Given the description of an element on the screen output the (x, y) to click on. 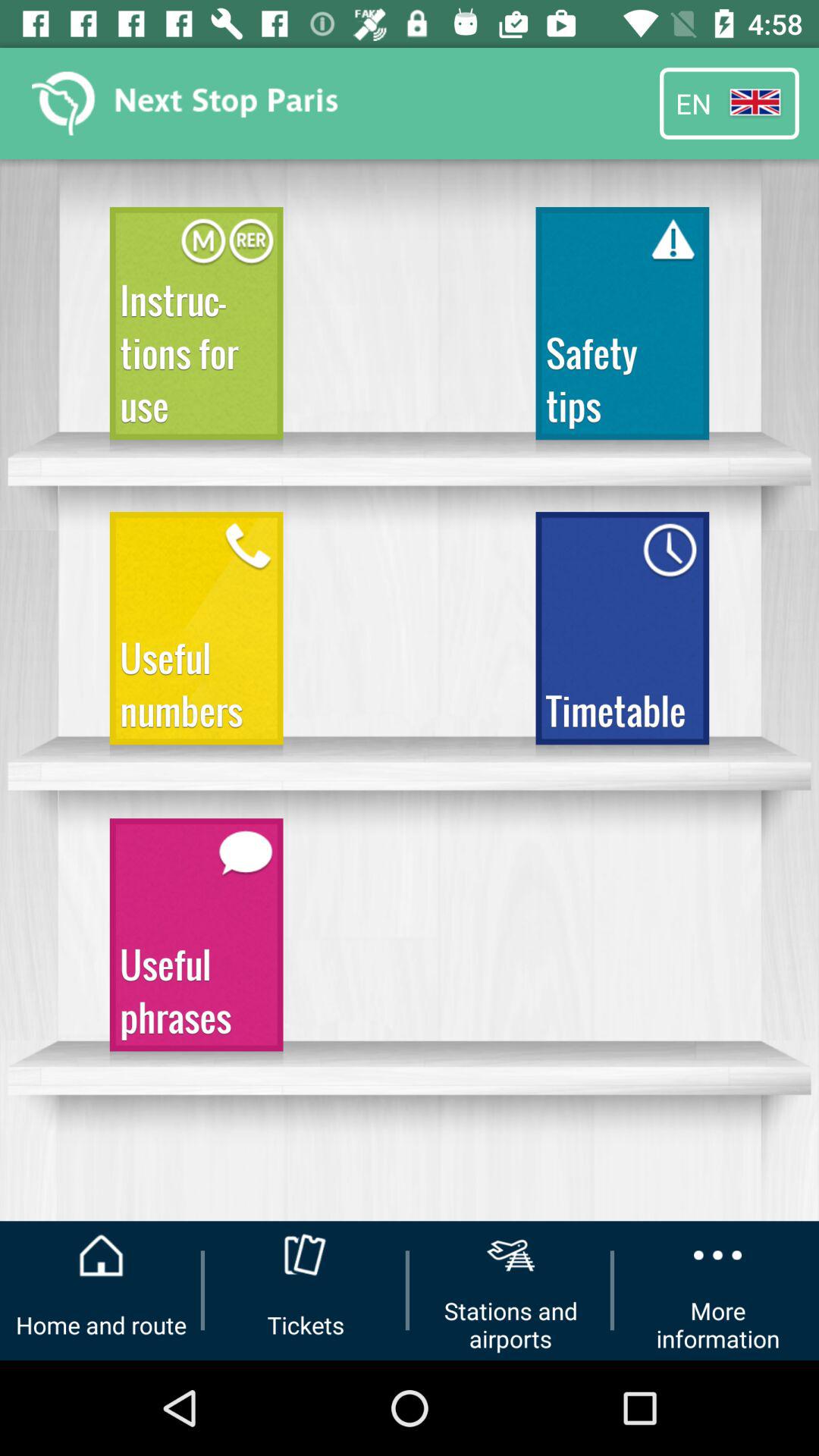
launch icon below useful numbers icon (196, 941)
